Given the description of an element on the screen output the (x, y) to click on. 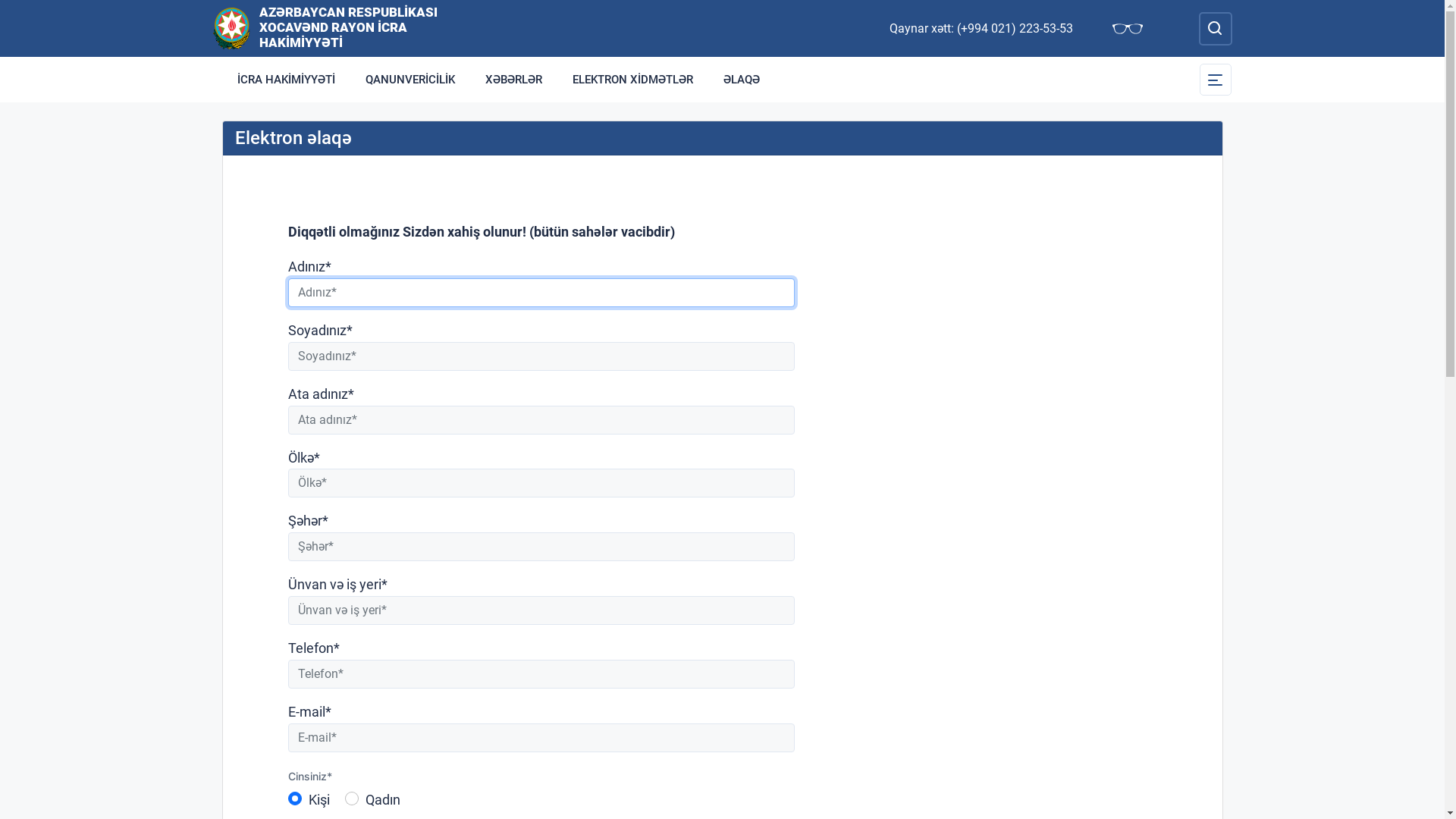
QANUNVERICILIK Element type: text (410, 79)
